Given the description of an element on the screen output the (x, y) to click on. 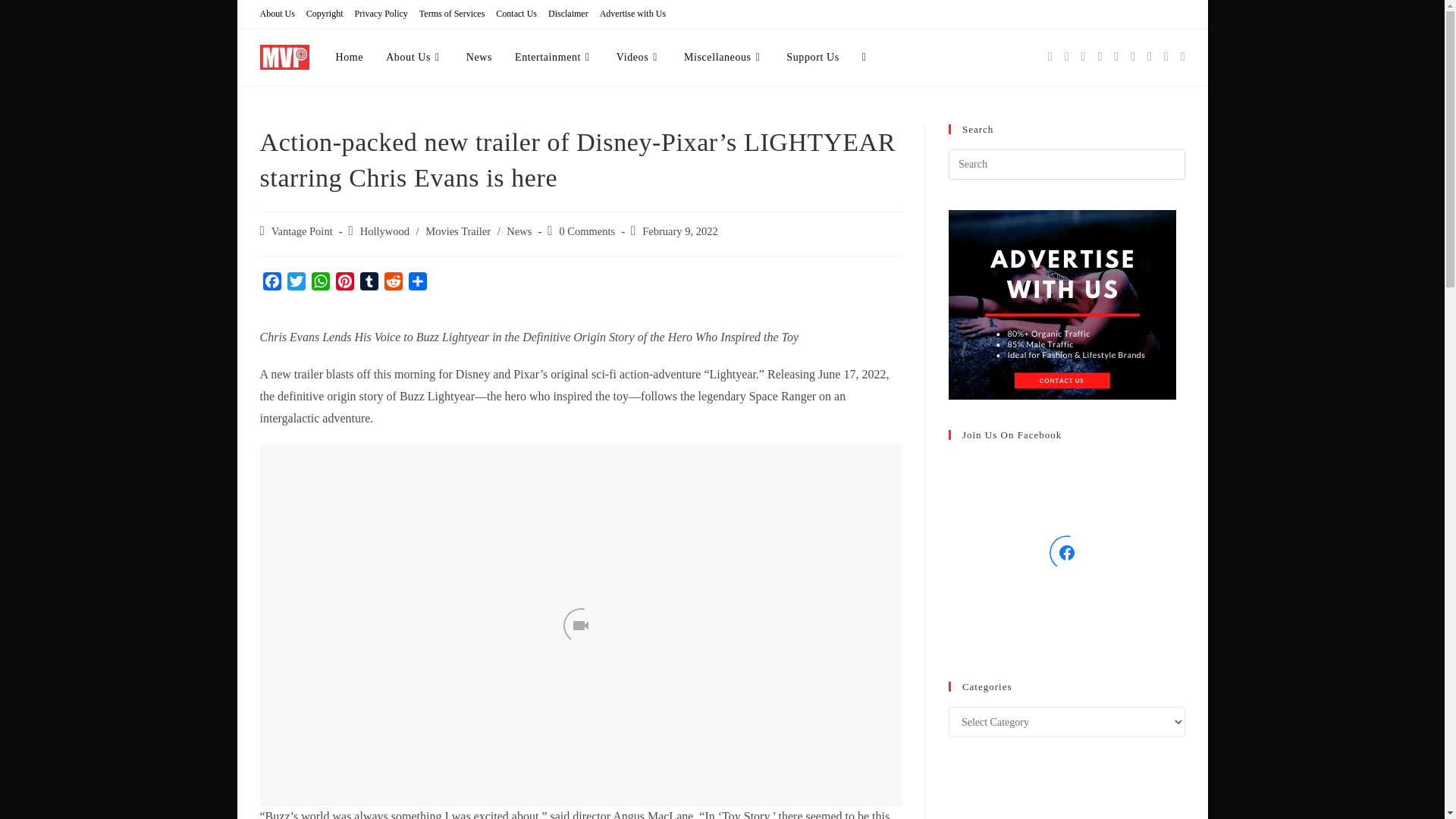
Terms of Services (451, 13)
Copyright (324, 13)
Privacy Policy (381, 13)
Pinterest (343, 281)
Entertainment (554, 57)
Advertise with Us (632, 13)
Home (349, 57)
Tumblr (368, 281)
Reddit (392, 281)
